Given the description of an element on the screen output the (x, y) to click on. 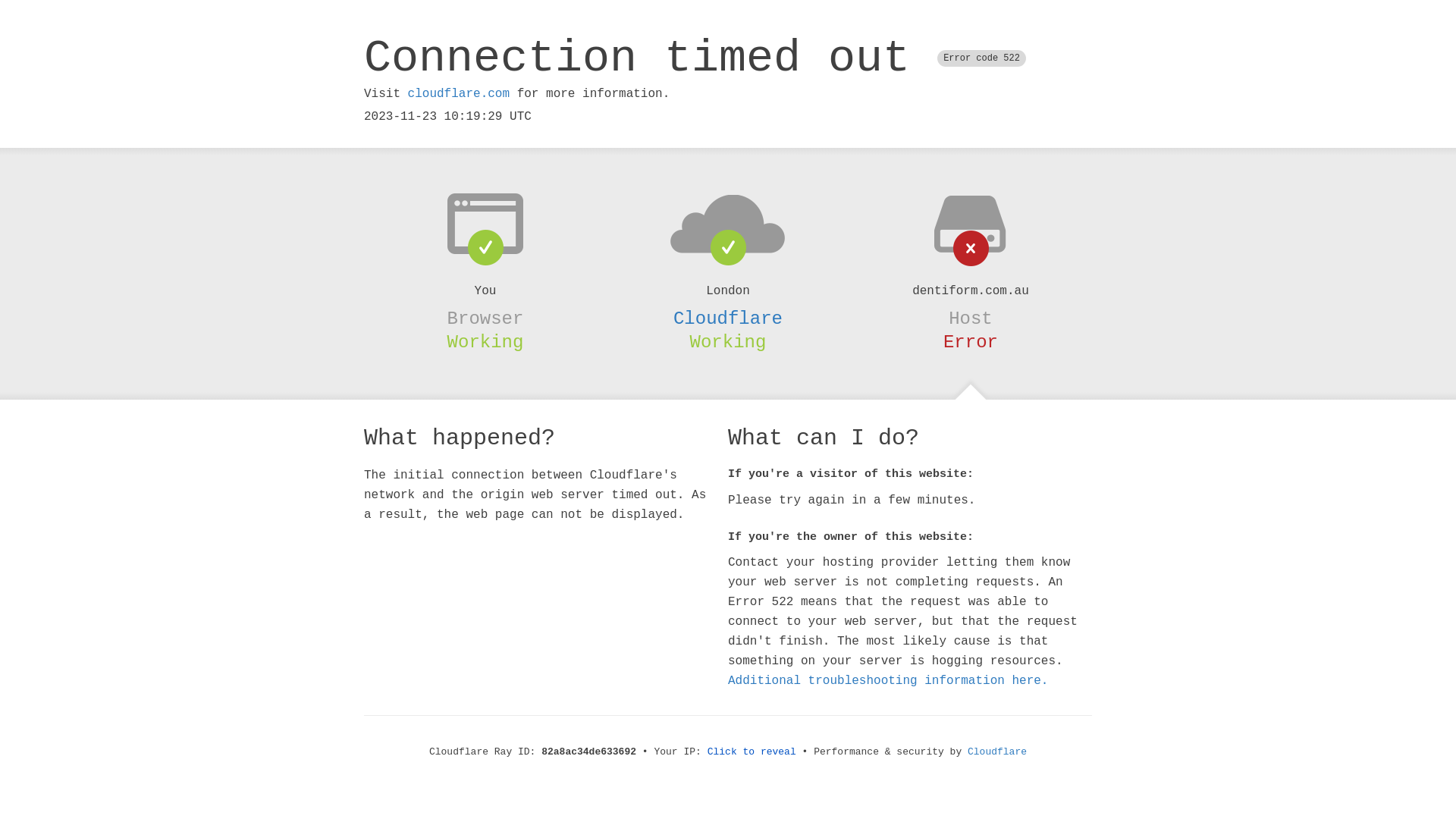
Cloudflare Element type: text (727, 318)
Click to reveal Element type: text (751, 751)
cloudflare.com Element type: text (458, 93)
Additional troubleshooting information here. Element type: text (888, 680)
Cloudflare Element type: text (996, 751)
